Given the description of an element on the screen output the (x, y) to click on. 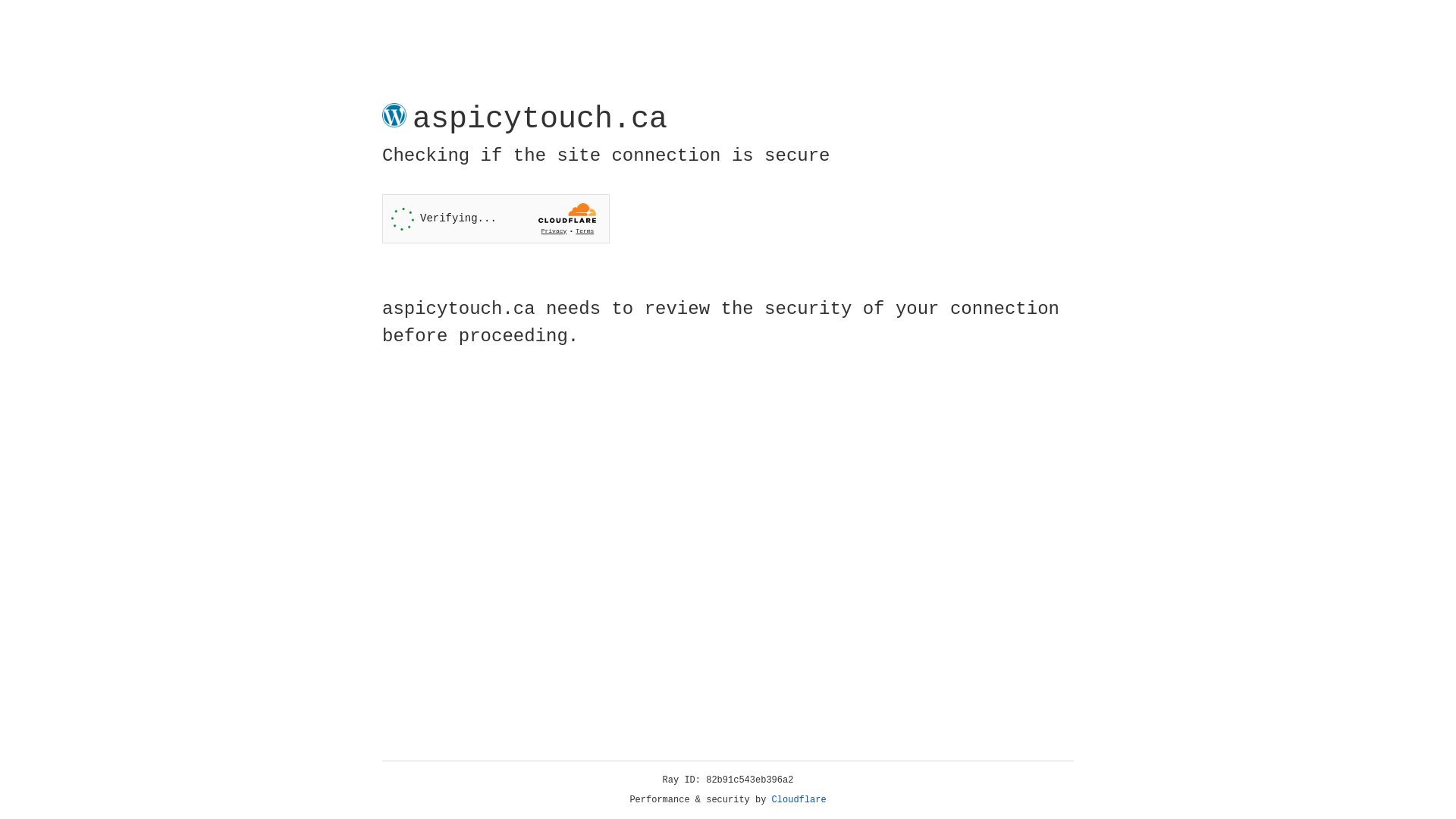
Cloudflare Element type: text (798, 799)
Widget containing a Cloudflare security challenge Element type: hover (495, 218)
